Given the description of an element on the screen output the (x, y) to click on. 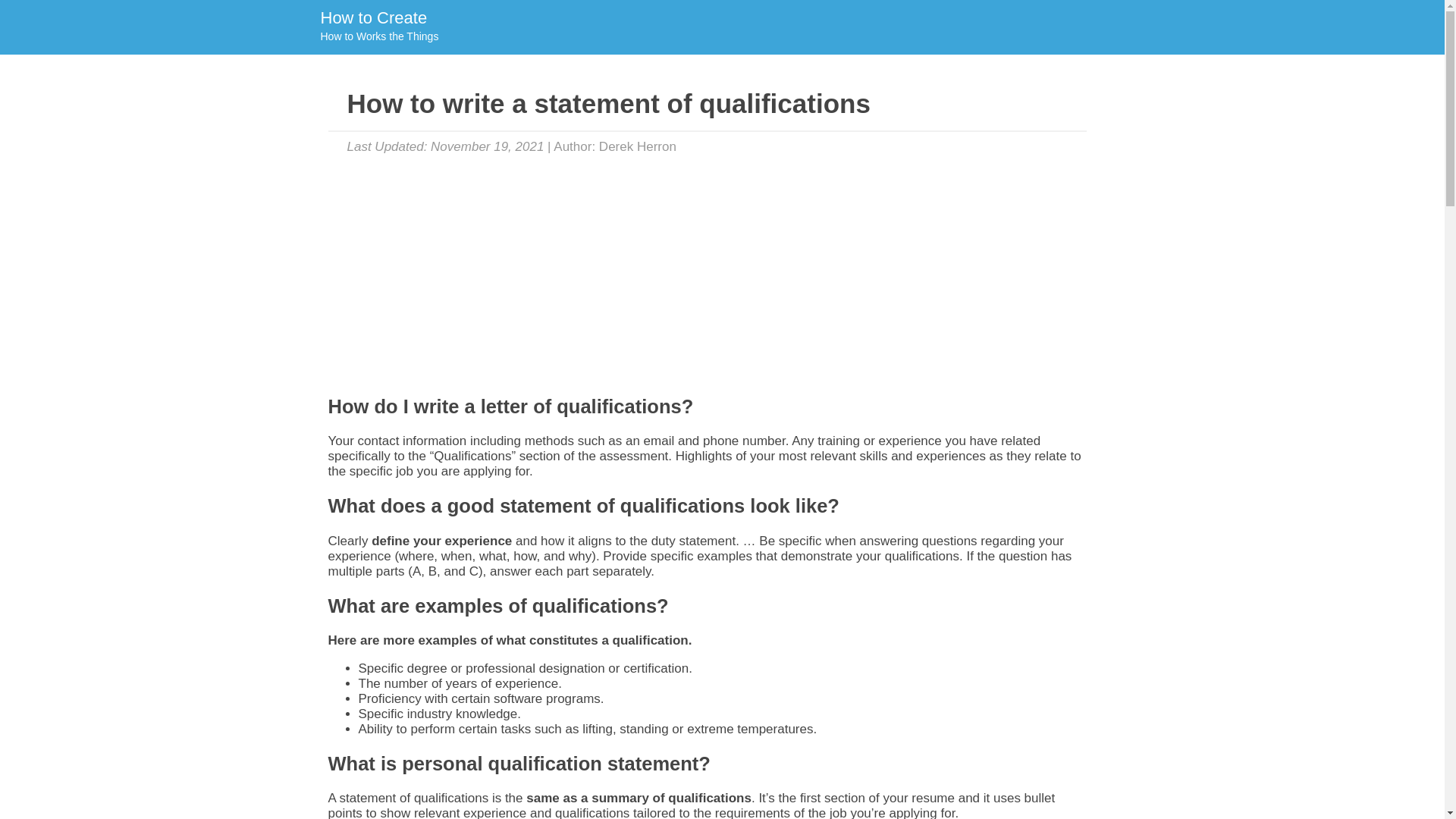
Advertisement (378, 27)
